Given the description of an element on the screen output the (x, y) to click on. 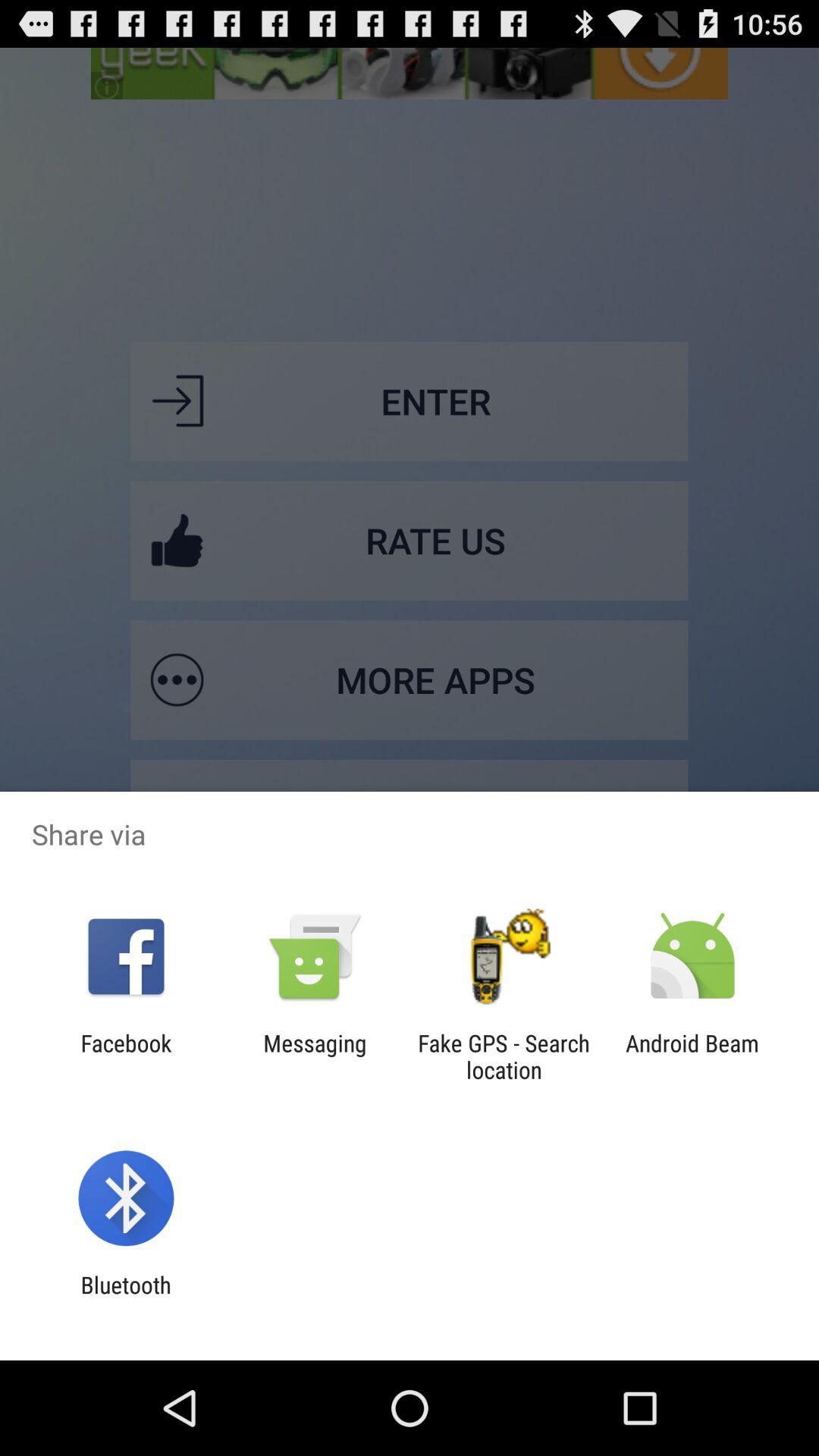
choose the app next to fake gps search icon (314, 1056)
